Given the description of an element on the screen output the (x, y) to click on. 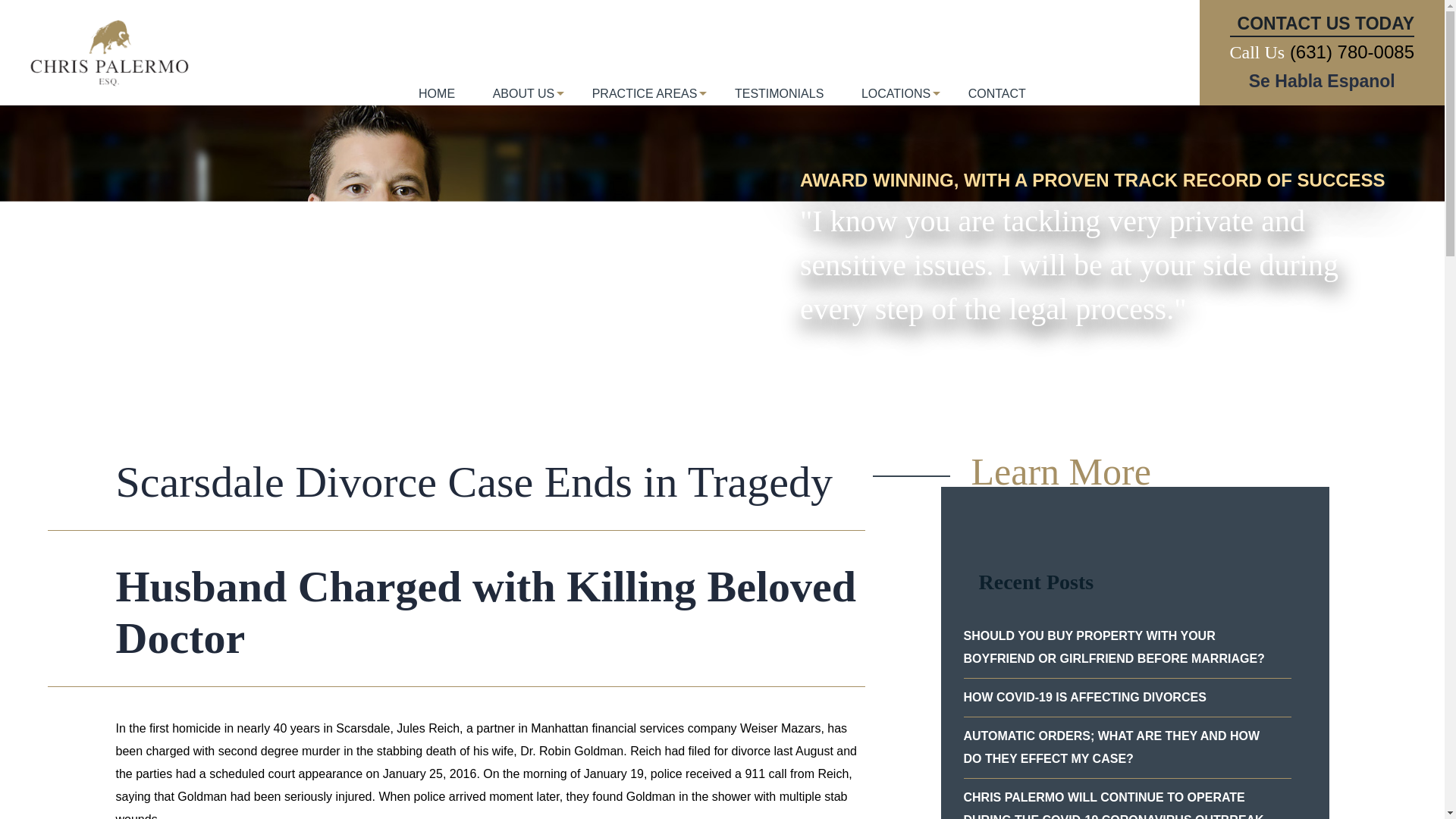
HOME (436, 102)
CONTACT (997, 102)
PRACTICE AREAS (644, 102)
LOCATIONS (895, 102)
Se Habla Espanol (1321, 80)
HOW COVID-19 IS AFFECTING DIVORCES (1126, 697)
AWARD WINNING, WITH A PROVEN TRACK RECORD OF SUCCESS (1095, 180)
